Given the description of an element on the screen output the (x, y) to click on. 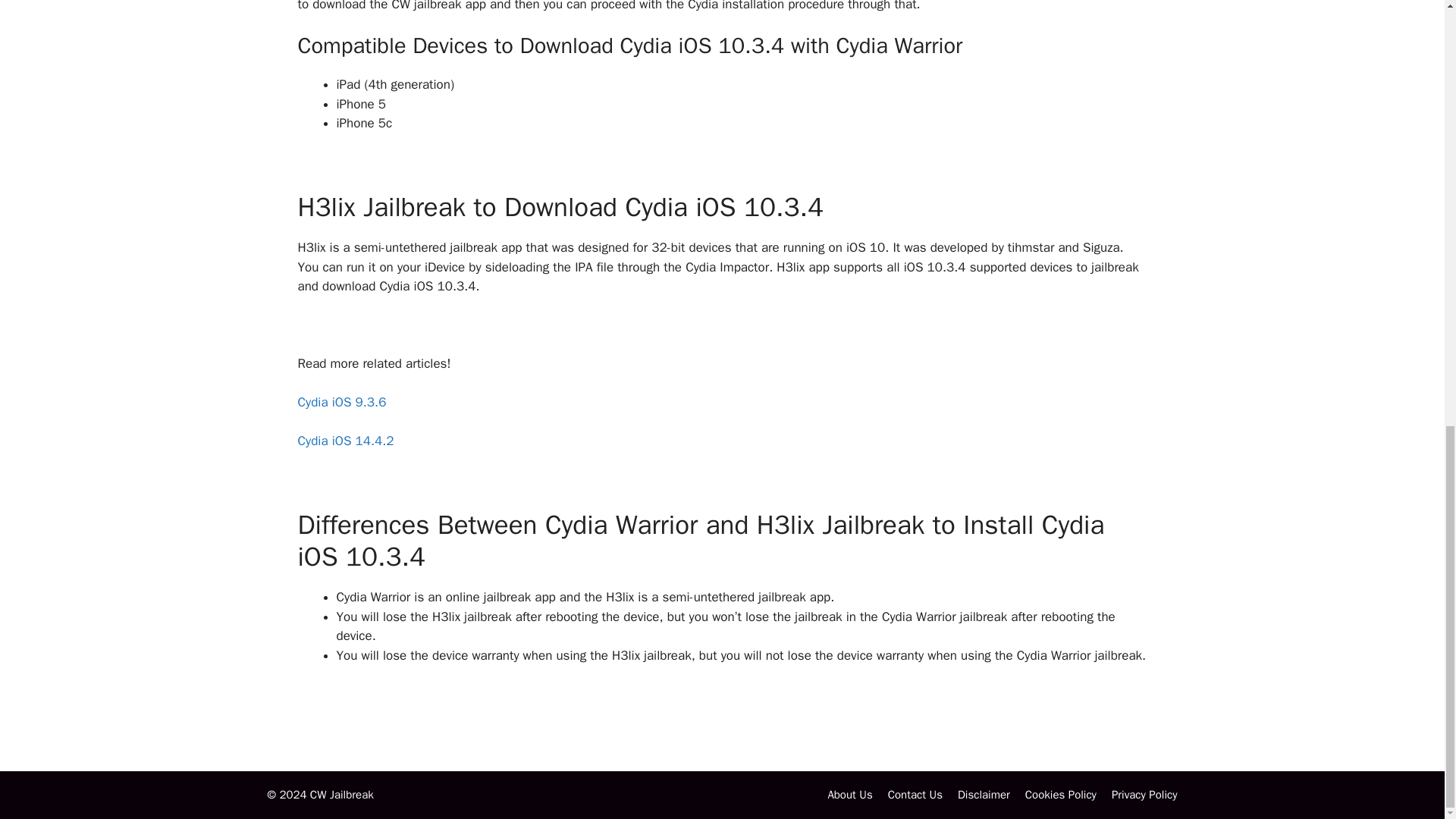
Cydia iOS 9.3.6 (341, 401)
Cydia iOS 14.4.2 (345, 440)
Contact Us (915, 794)
Disclaimer (984, 794)
Cookies Policy (1060, 794)
Privacy Policy (1144, 794)
About Us (849, 794)
